Given the description of an element on the screen output the (x, y) to click on. 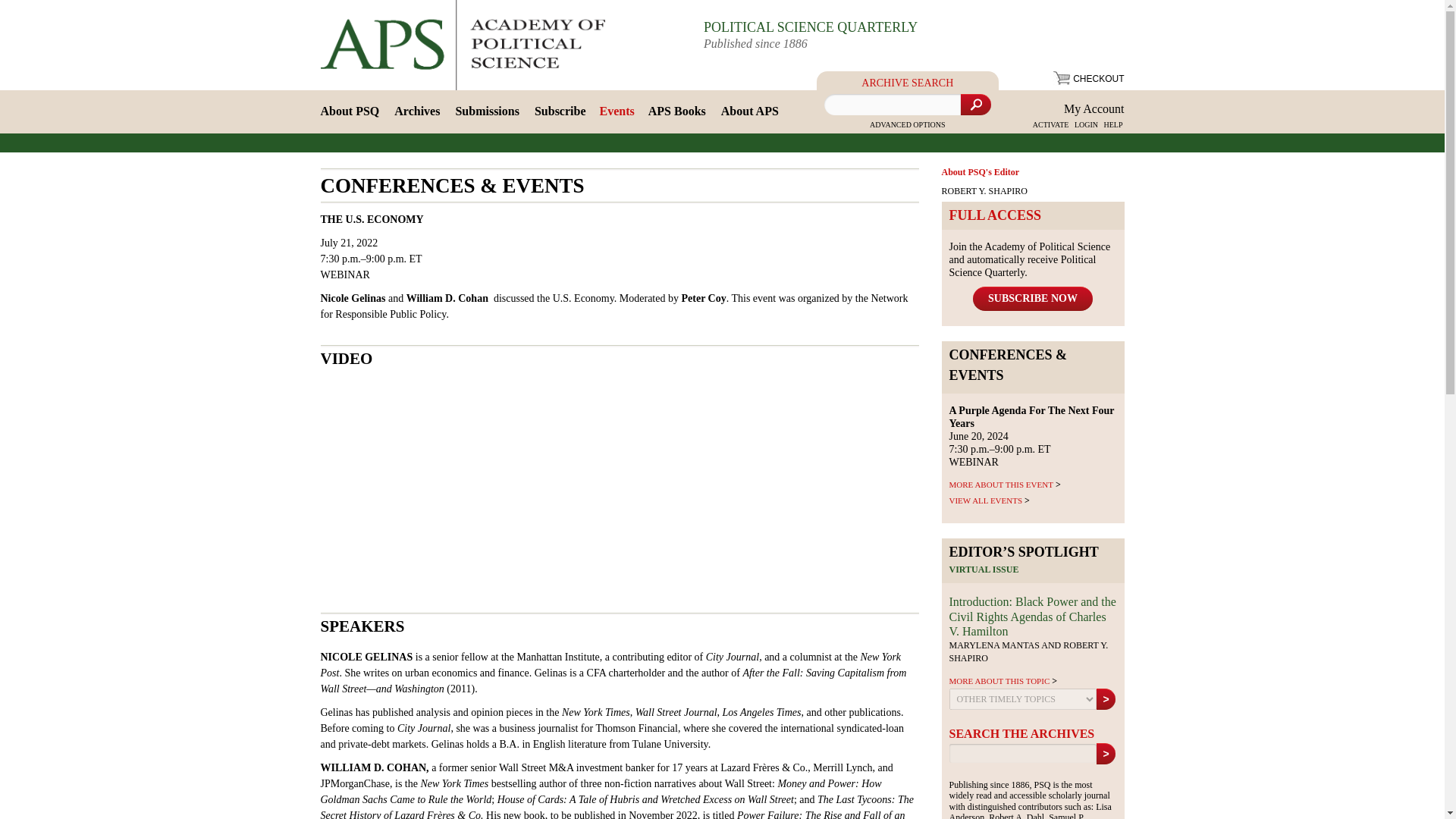
POLITICAL SCIENCE QUARTERLY (810, 27)
CHECKOUT (1088, 78)
